Given the description of an element on the screen output the (x, y) to click on. 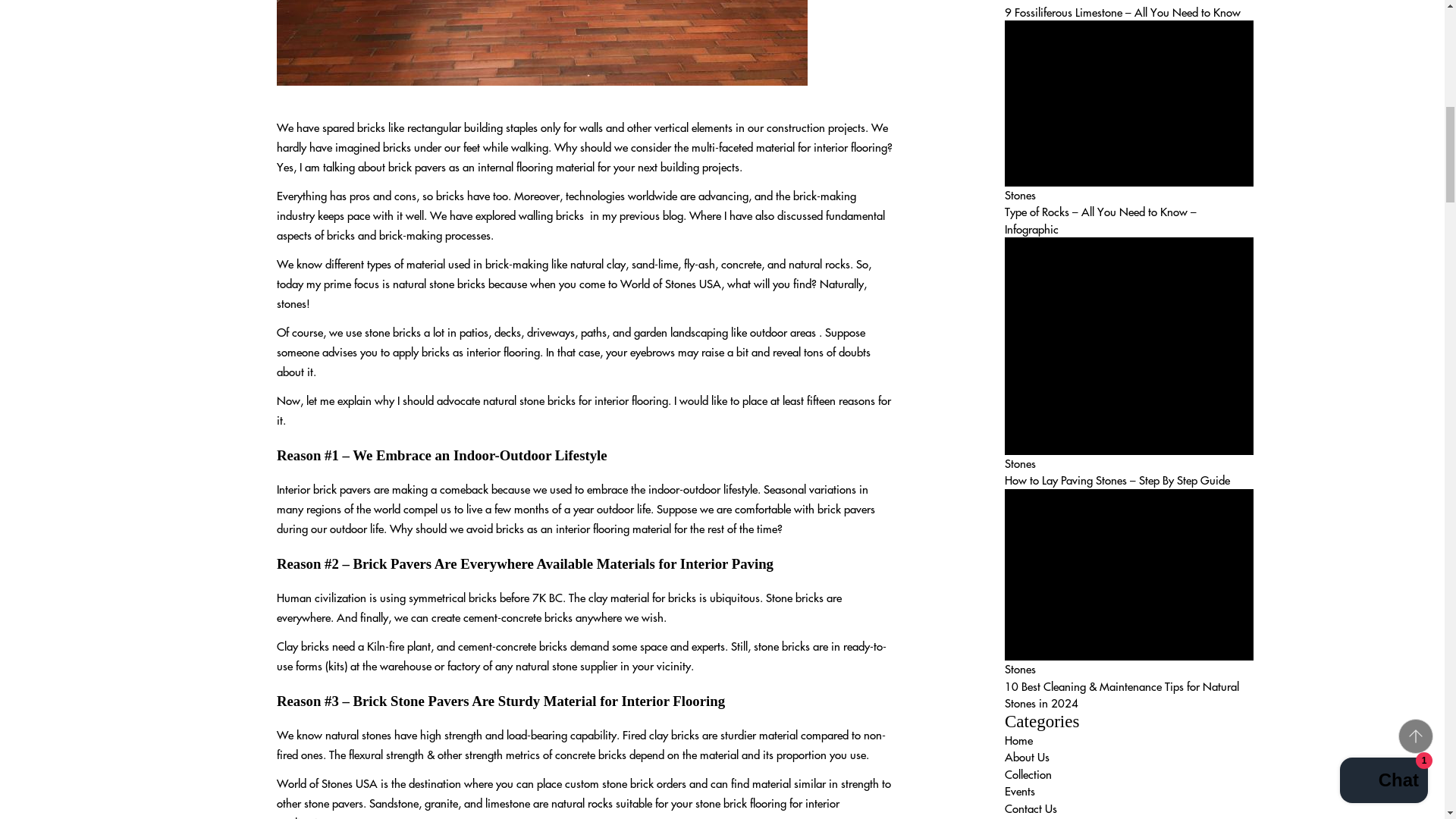
Stones (1019, 194)
Show articles tagged Stones (1019, 194)
Stones (1019, 462)
Stones (1019, 668)
Show articles tagged Stones (1019, 1)
Stones (1019, 1)
Show articles tagged Stones (1019, 668)
Show articles tagged Stones (1019, 462)
